Given the description of an element on the screen output the (x, y) to click on. 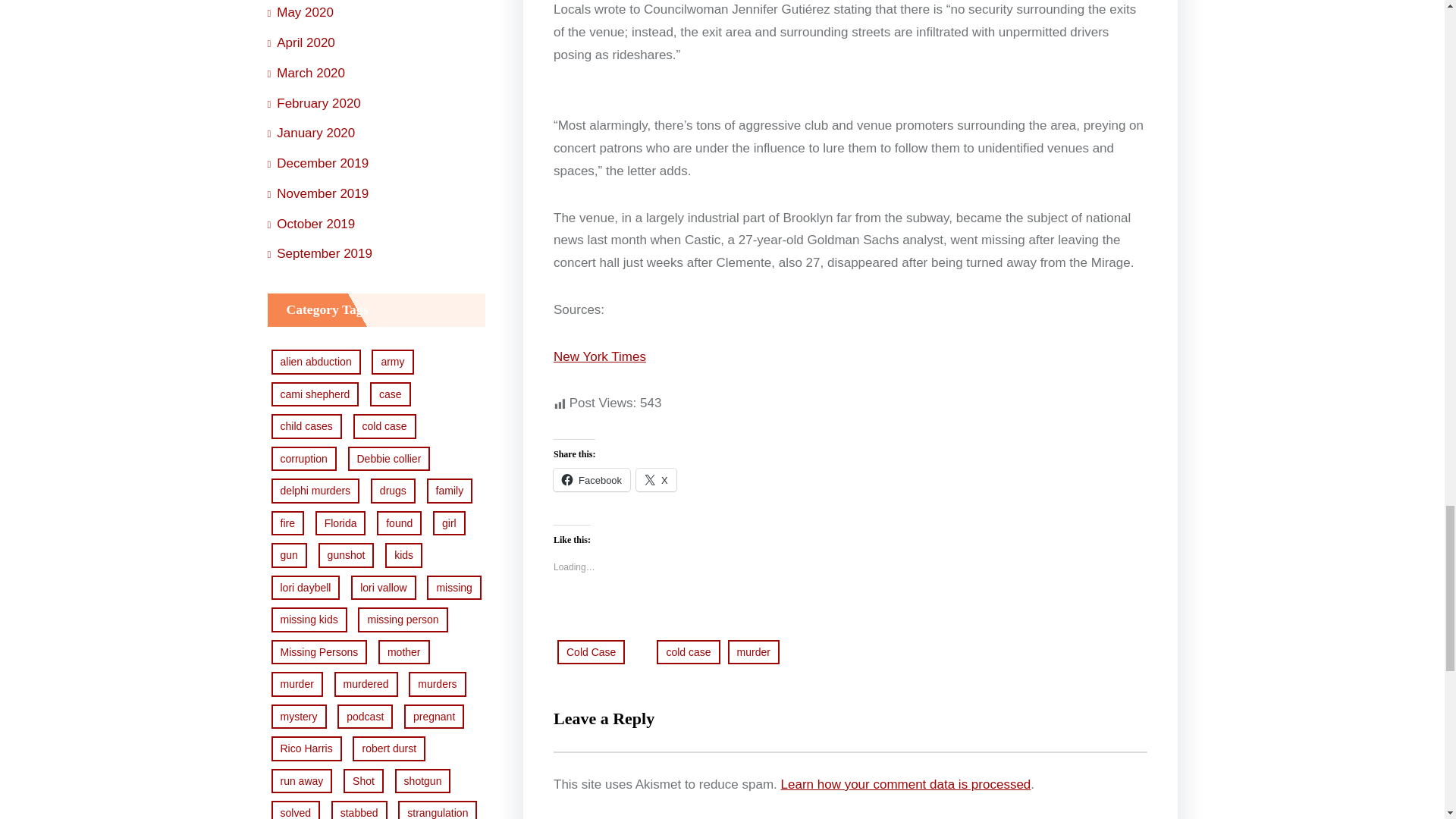
Click to share on Facebook (591, 479)
Click to share on X (656, 479)
